Given the description of an element on the screen output the (x, y) to click on. 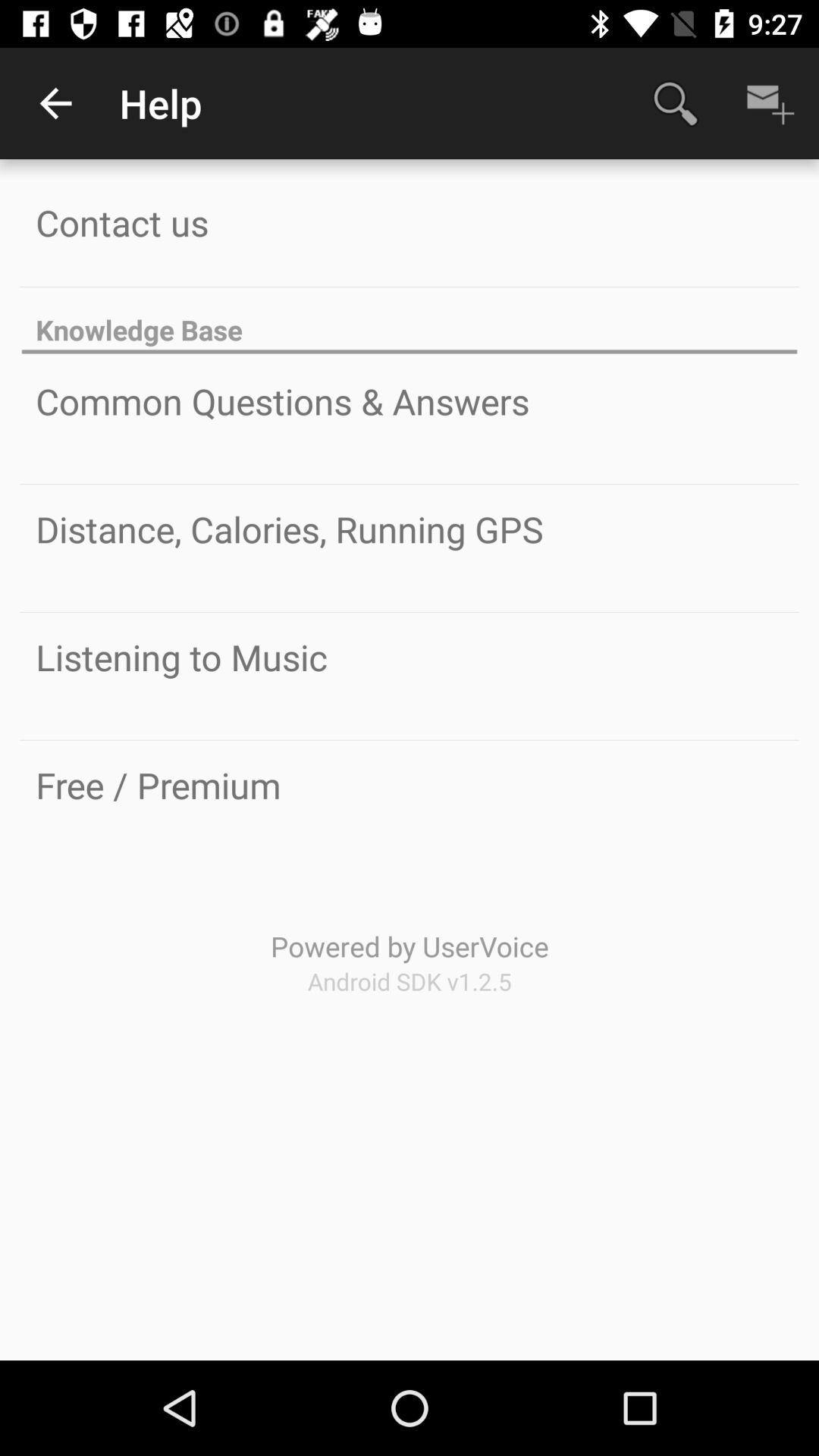
press the android sdk v1 item (409, 981)
